Given the description of an element on the screen output the (x, y) to click on. 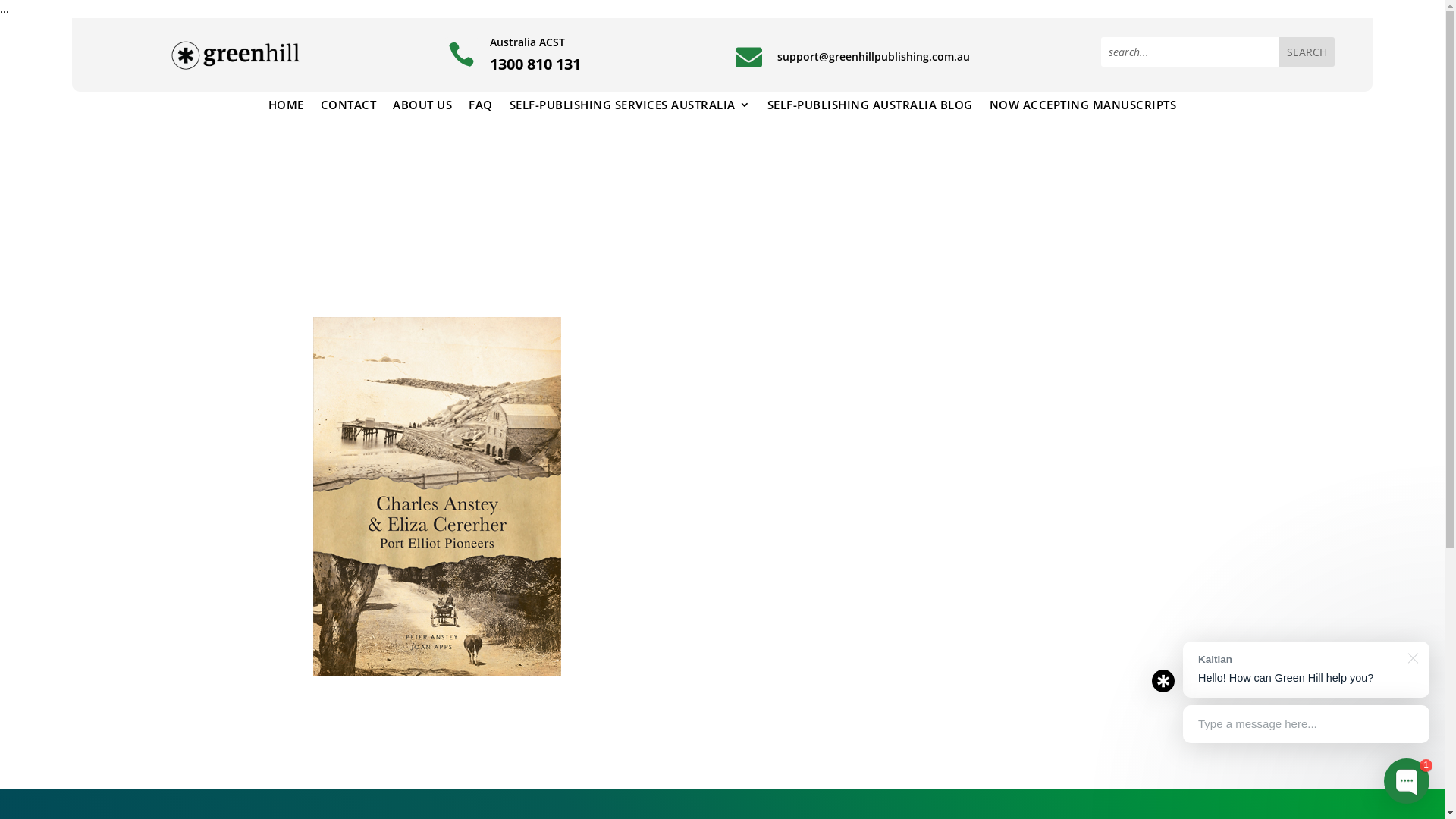
greenhill med Element type: hover (235, 55)
Search Element type: text (1306, 51)
SELF-PUBLISHING AUSTRALIA BLOG Element type: text (869, 107)
FAQ Element type: text (480, 107)
HOME Element type: text (286, 107)
CONTACT Element type: text (348, 107)
SELF-PUBLISHING SERVICES AUSTRALIA Element type: text (629, 107)
ABOUT US Element type: text (421, 107)
NOW ACCEPTING MANUSCRIPTS Element type: text (1082, 107)
